Given the description of an element on the screen output the (x, y) to click on. 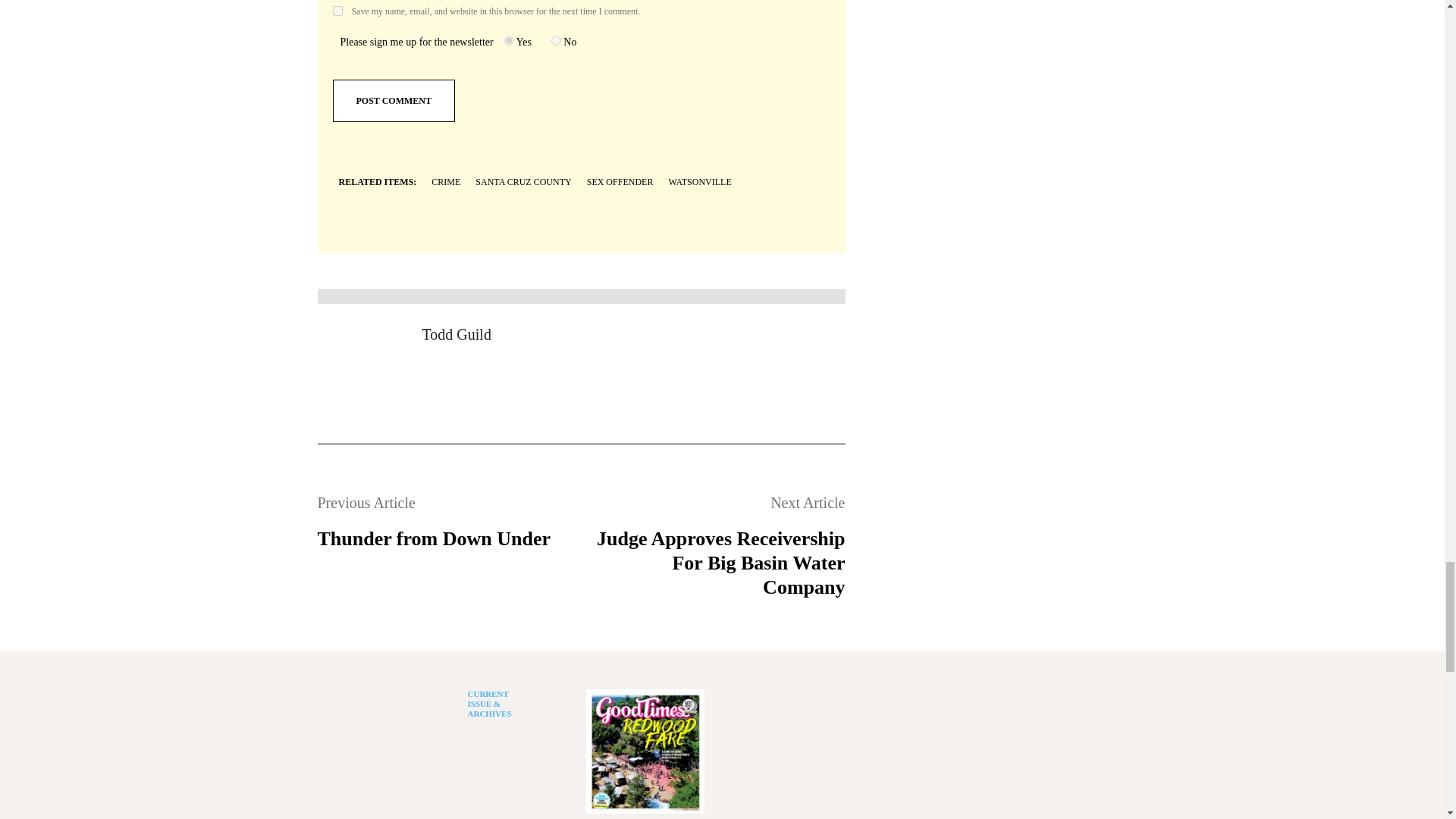
yes (336, 10)
No (555, 40)
Yes (508, 40)
Post Comment (392, 100)
